Given the description of an element on the screen output the (x, y) to click on. 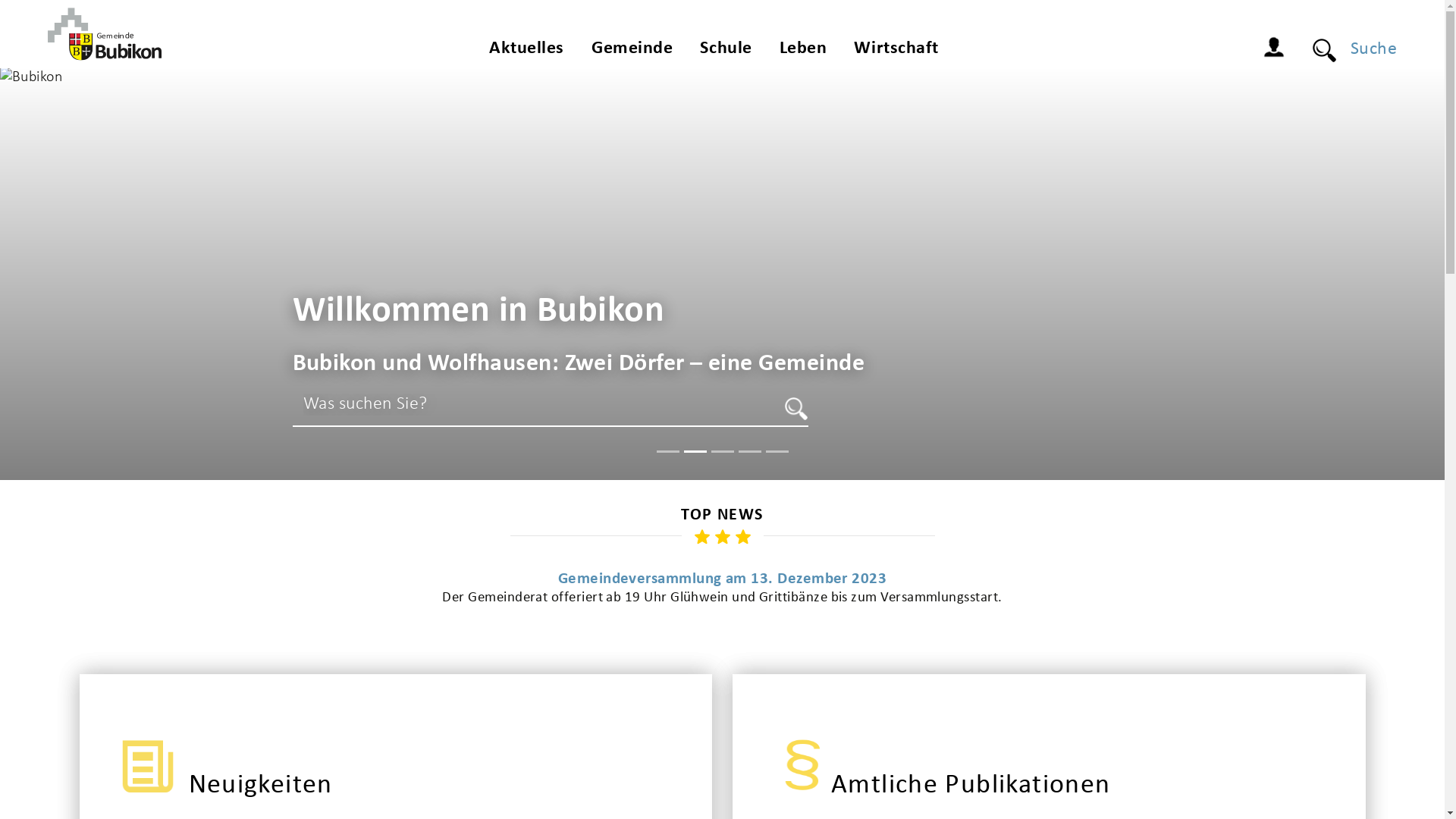
Gemeinde Element type: text (631, 51)
Gemeindeversammlung am 13. Dezember 2023 Element type: text (722, 578)
Gemeinde Bubikon Element type: hover (103, 33)
Wirtschaft Element type: text (895, 51)
Aktuelles Element type: text (526, 51)
Willkommen in Bubikon Element type: text (478, 311)
Schule Element type: text (725, 51)
Suche Element type: text (796, 408)
Direkt zur Hauptnavigation Element type: text (0, 0)
Suche Element type: text (1366, 49)
Leben Element type: text (803, 51)
Login Element type: text (1277, 49)
